Given the description of an element on the screen output the (x, y) to click on. 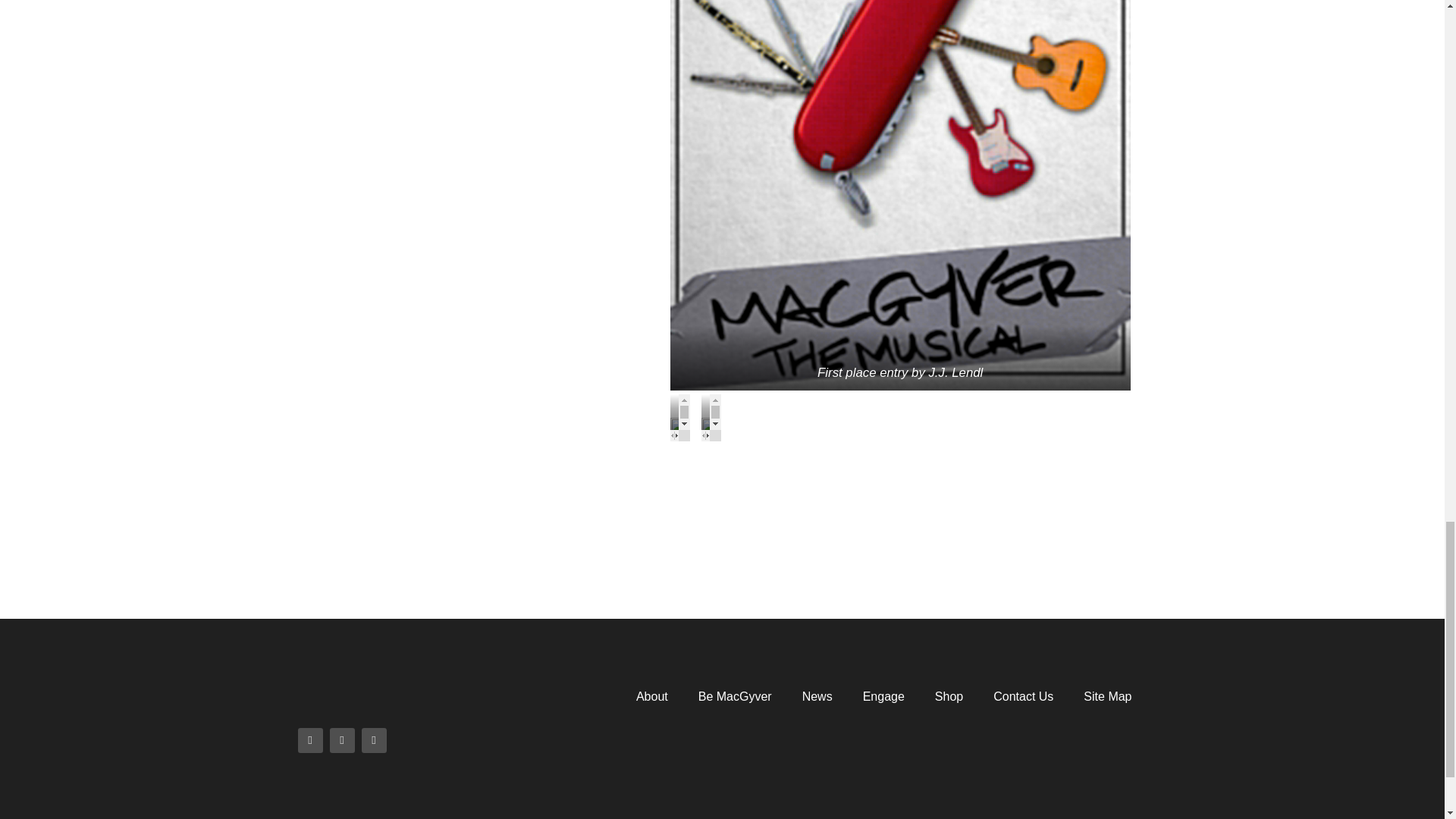
Be MacGyver (734, 696)
News (817, 696)
Shop (949, 696)
Site Map (1107, 696)
Engage (883, 696)
About (651, 696)
Contact Us (1023, 696)
